Given the description of an element on the screen output the (x, y) to click on. 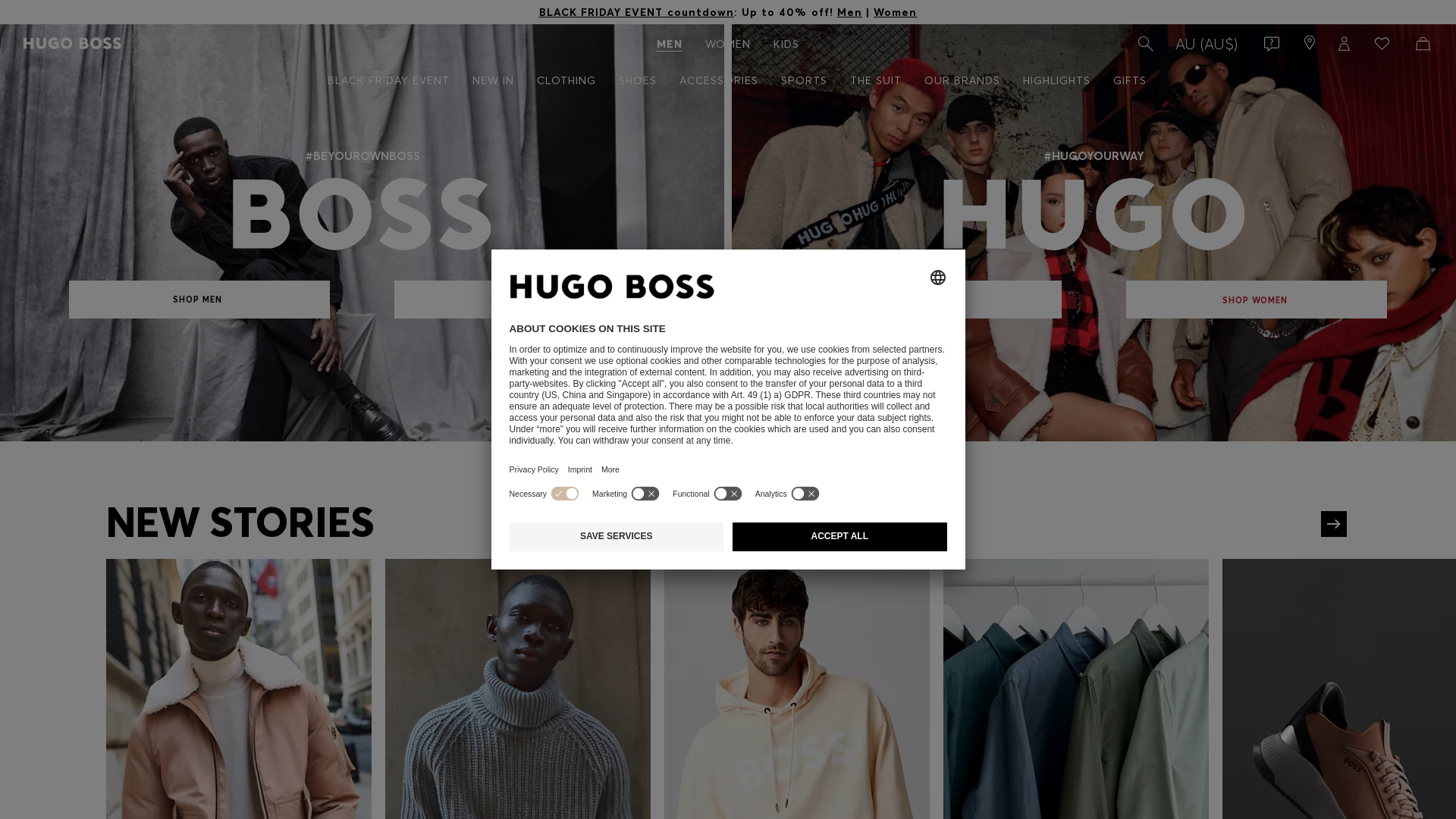
SHOP WOMEN Element type: text (524, 299)
SPORTS Element type: text (802, 80)
Store Locator Element type: text (1306, 44)
BLACK FRIDAY EVENT Element type: text (387, 80)
Need assistance? Element type: text (1267, 44)
ACCESSORIES Element type: text (717, 80)
CLOTHING Element type: text (565, 80)
NEW IN Element type: text (493, 80)
Show my wishlist Element type: text (1379, 44)
AU (AU$) Element type: text (1206, 44)
Women Element type: text (894, 12)
Men Element type: text (849, 12)
Search Element type: text (1144, 43)
HIGHLIGHTS Element type: text (1056, 80)
MEN Element type: text (669, 44)
SHOP MEN Element type: text (930, 299)
SHOES Element type: text (636, 80)
Login or register Element type: text (1339, 44)
Search Men's Element type: hover (1144, 43)
Home Element type: text (71, 43)
BLACK FRIDAY EVENT countdown Element type: text (636, 12)
THE SUIT Element type: text (875, 80)
Shopping Bag & Checkout Element type: text (1420, 44)
OUR BRANDS Element type: text (962, 80)
KIDS Element type: text (786, 44)
SHOP MEN Element type: text (199, 299)
SHOP WOMEN Element type: text (1256, 299)
WOMEN Element type: text (727, 44)
GIFTS Element type: text (1129, 80)
